Given the description of an element on the screen output the (x, y) to click on. 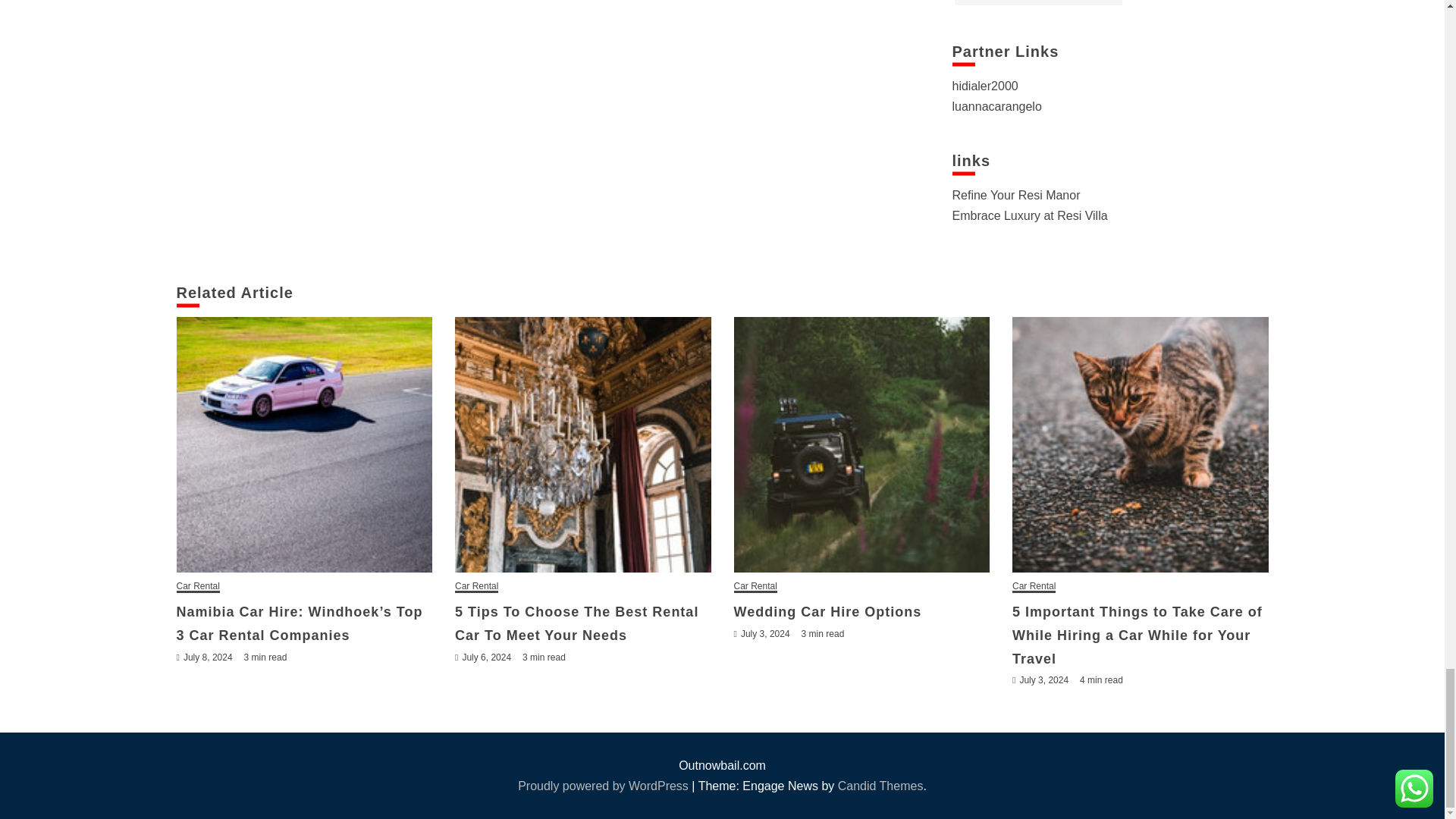
Wedding Car Hire Options (861, 444)
5 Tips To Choose The Best Rental Car To Meet Your Needs (582, 444)
